Given the description of an element on the screen output the (x, y) to click on. 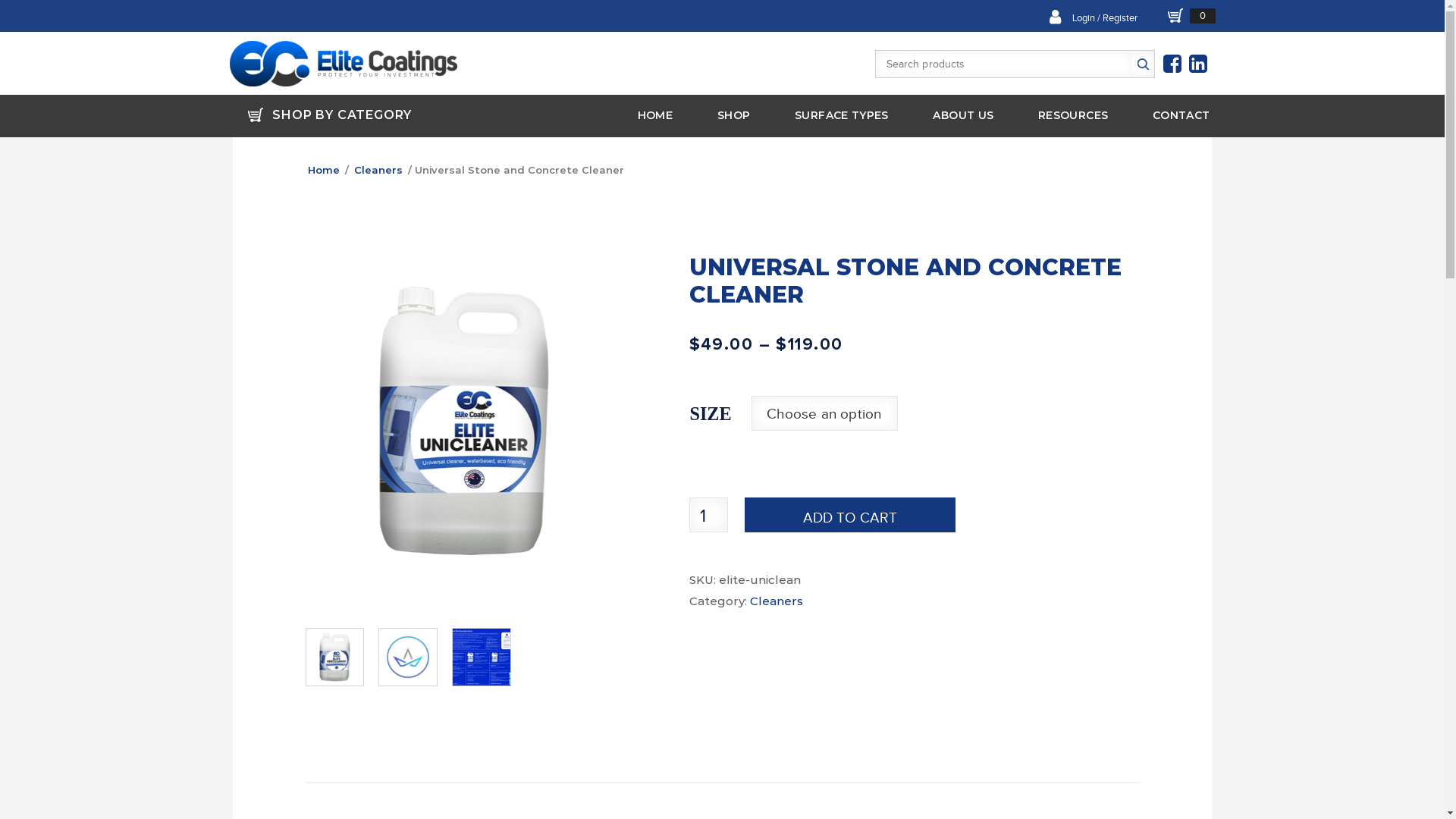
Home Element type: text (323, 170)
HOME Element type: text (654, 115)
ELITE UNIVERSAL CLEANER 5 LTR BOTTLE Element type: hover (462, 420)
ABOUT US Element type: text (962, 115)
Login / Register Element type: text (1104, 17)
SHOP BY CATEGORY Element type: text (329, 115)
ADD TO CART Element type: text (849, 514)
Cleaners Element type: text (378, 170)
0 Element type: text (1191, 15)
CONTACT Element type: text (1180, 115)
Cleaners Element type: text (775, 600)
SURFACE TYPES Element type: text (841, 115)
RESOURCES Element type: text (1072, 115)
SHOP Element type: text (733, 115)
